Given the description of an element on the screen output the (x, y) to click on. 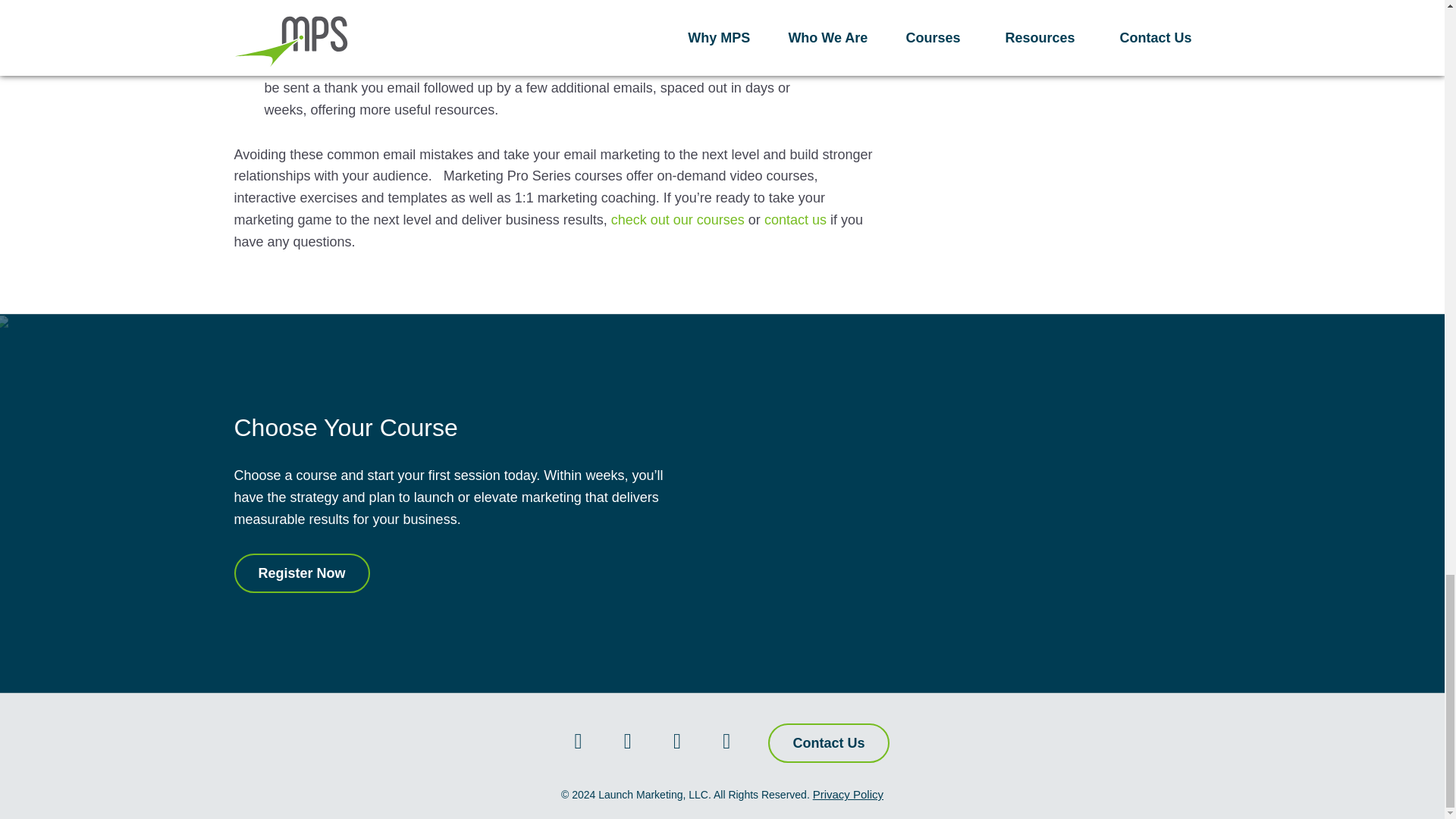
Register Now (300, 573)
contact us (795, 219)
Contact Us (828, 743)
check out our courses (677, 219)
